Given the description of an element on the screen output the (x, y) to click on. 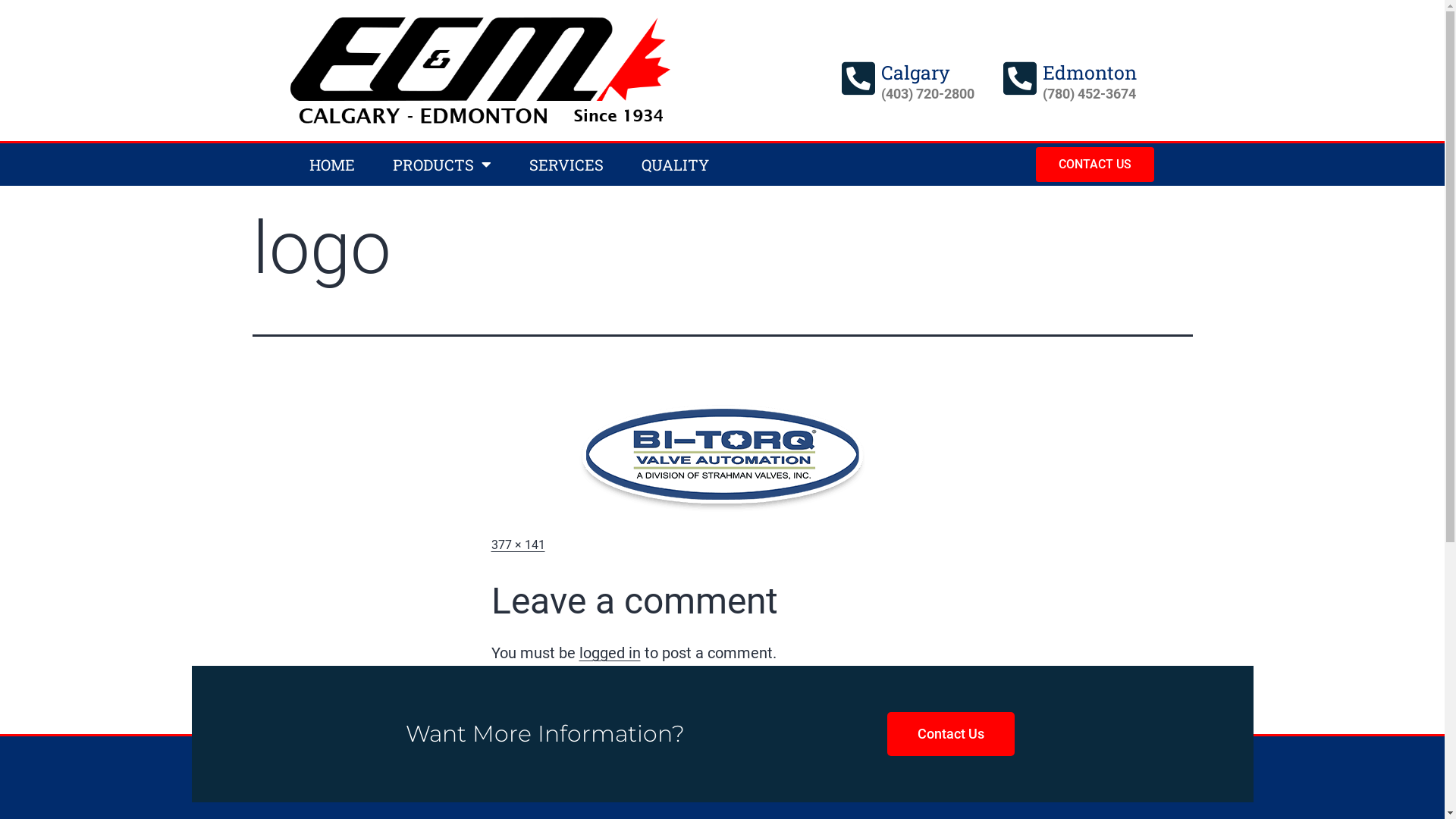
PRODUCTS Element type: text (441, 164)
Contact Us Element type: text (950, 734)
Calgary Element type: text (915, 71)
Edmonton Element type: text (1089, 71)
QUALITY Element type: text (674, 164)
CONTACT US Element type: text (1094, 164)
SERVICES Element type: text (565, 164)
HOME Element type: text (331, 164)
logged in Element type: text (609, 652)
